Given the description of an element on the screen output the (x, y) to click on. 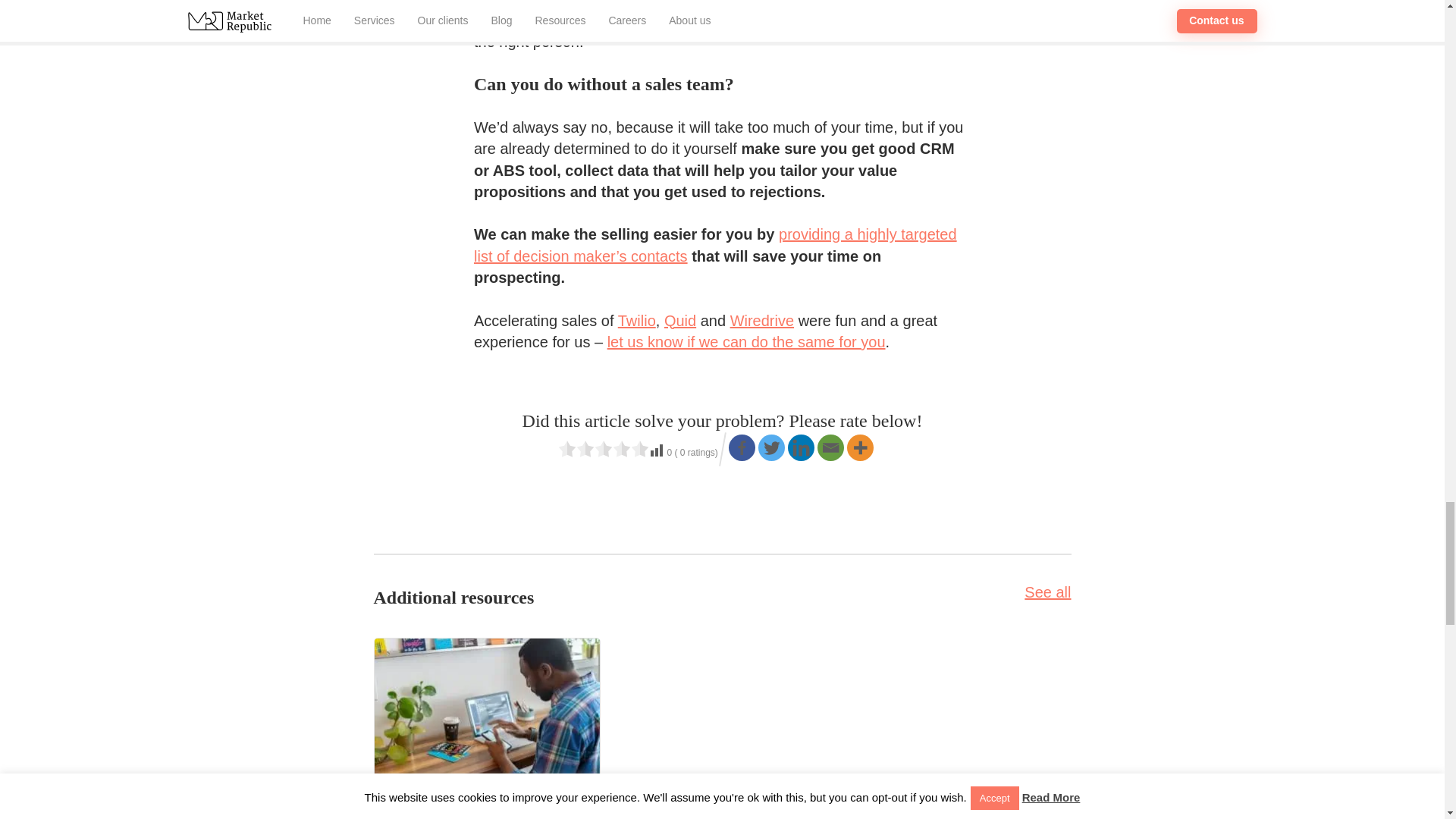
More (860, 447)
Linkedin (800, 447)
Facebook (742, 447)
Twitter (771, 447)
Email (830, 447)
